Given the description of an element on the screen output the (x, y) to click on. 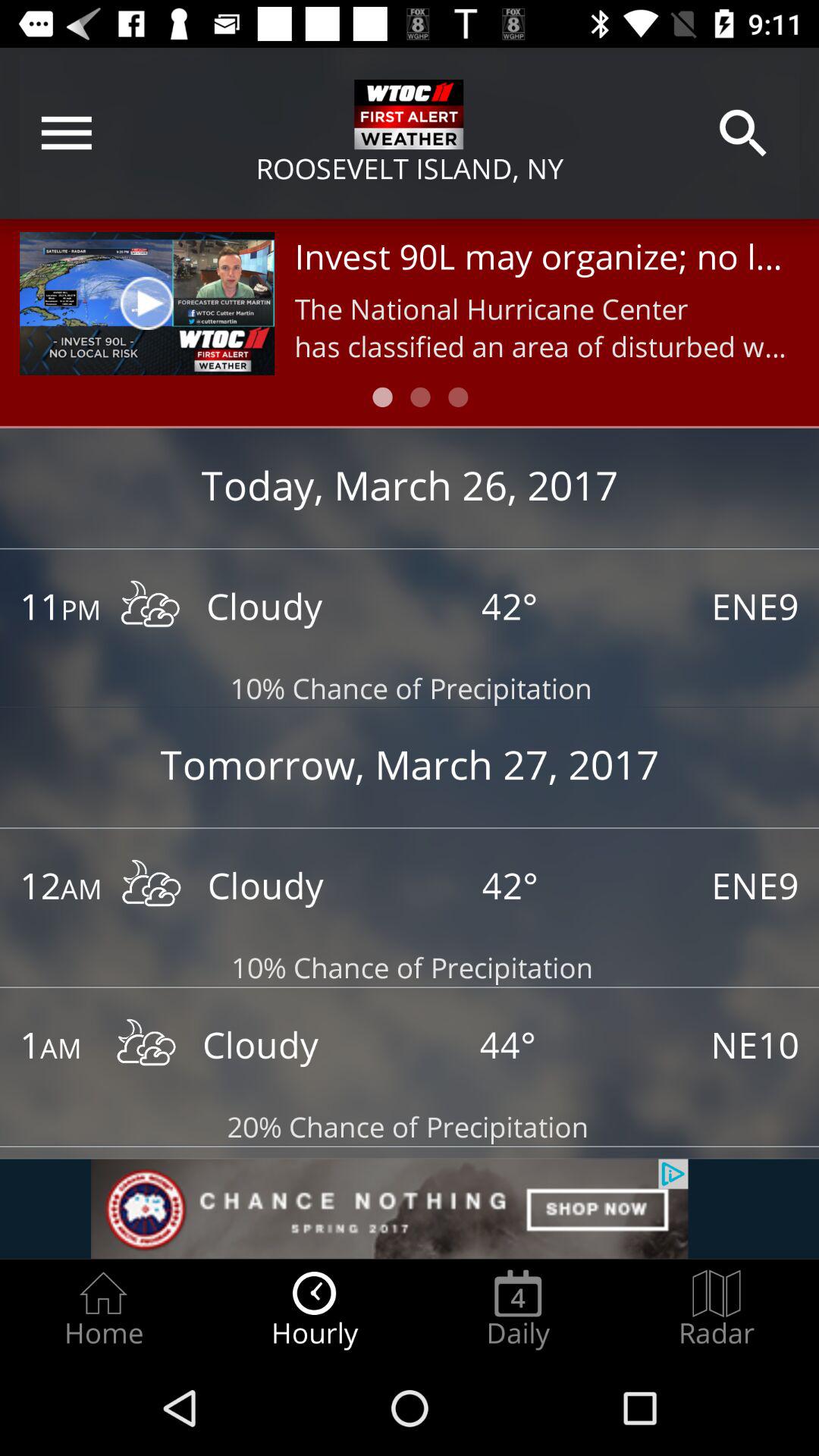
press icon next to daily item (716, 1309)
